Given the description of an element on the screen output the (x, y) to click on. 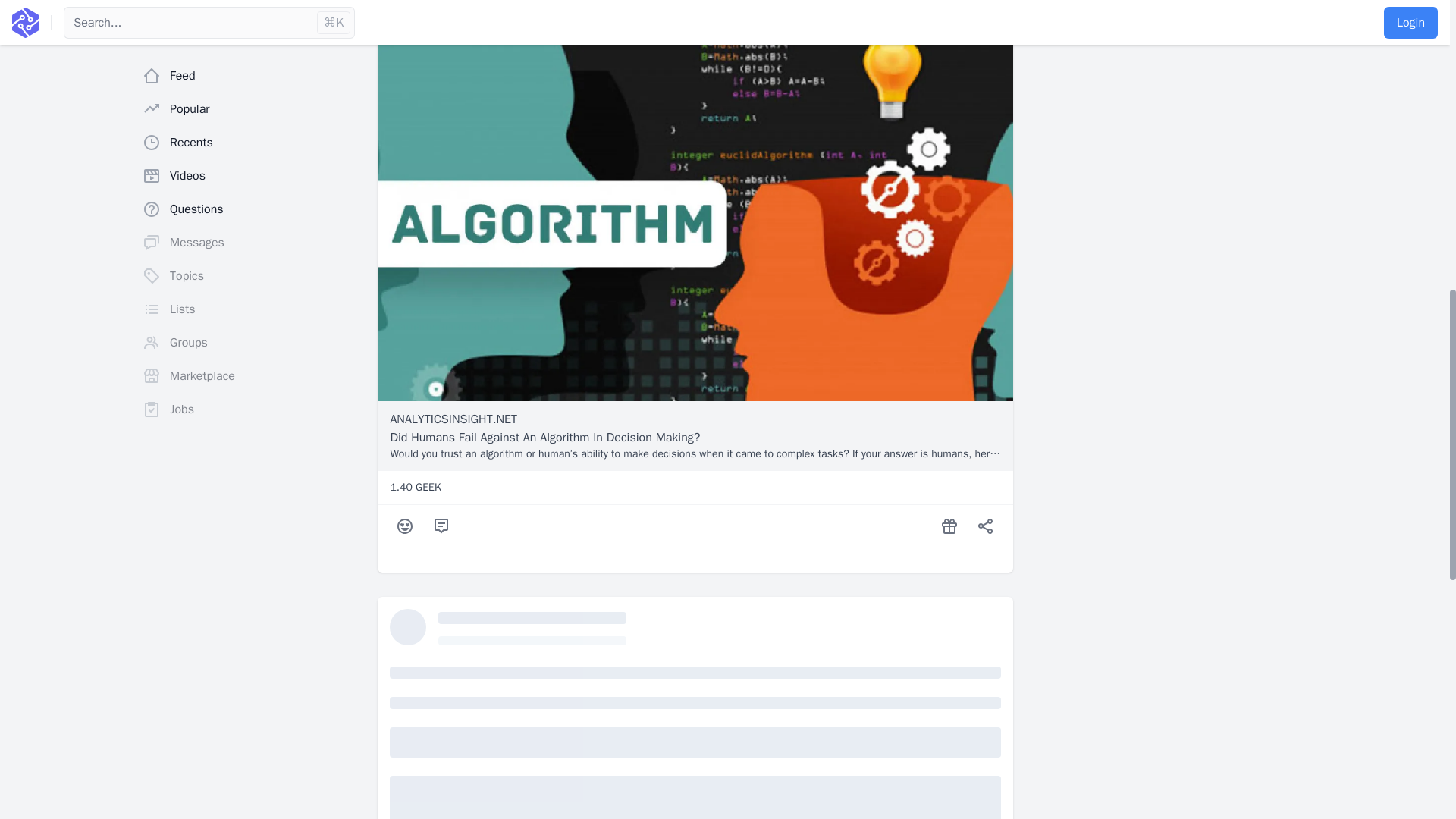
Share (986, 526)
Send me a coffee (948, 526)
Like (405, 526)
Write a comment (441, 526)
